Given the description of an element on the screen output the (x, y) to click on. 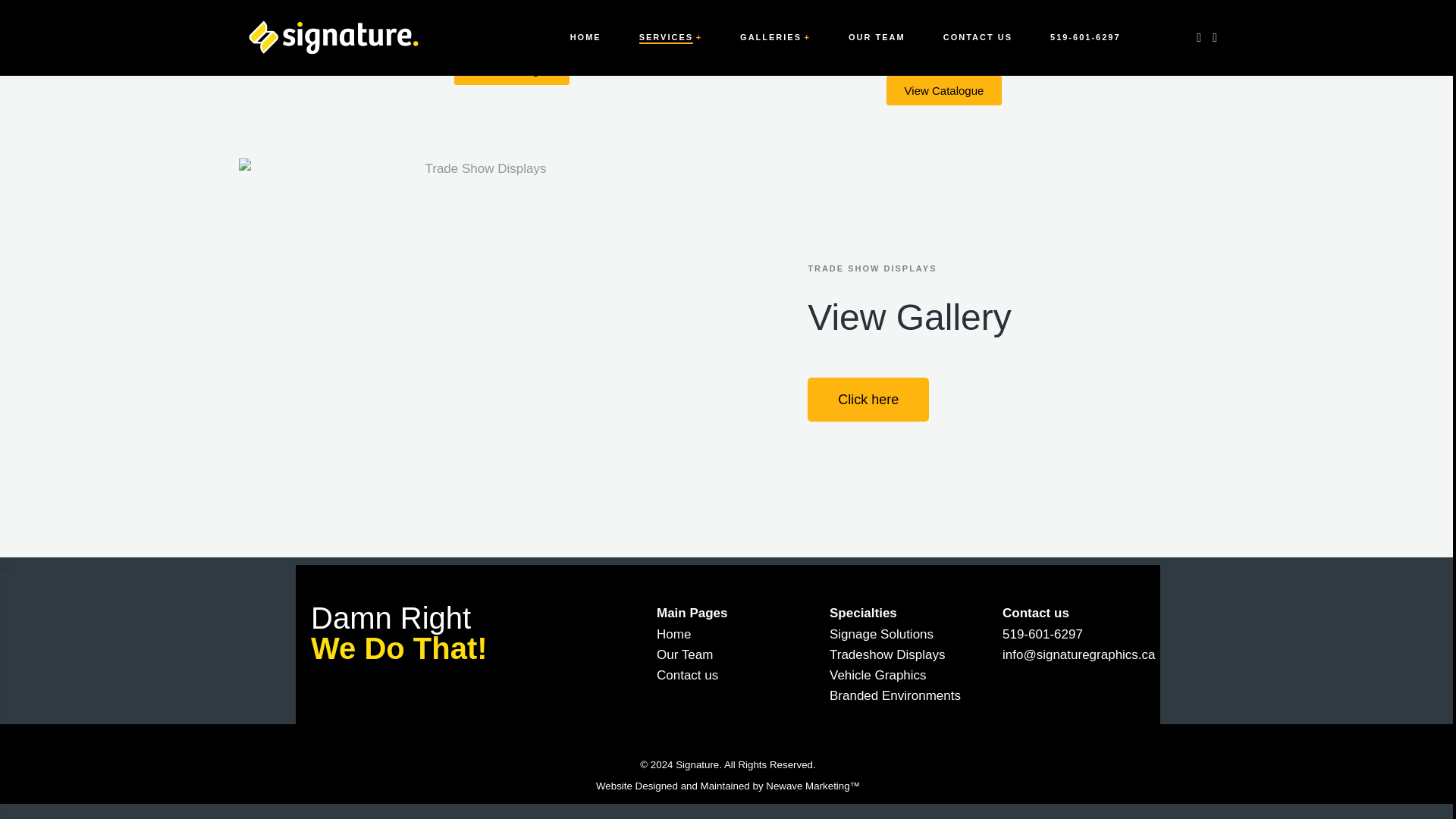
Click here (868, 399)
Tradeshow Displays (900, 654)
Branded Environments (900, 695)
Contact us (727, 675)
Home (727, 634)
Vehicle Graphics (900, 675)
Signage Solutions (900, 634)
View Catalogue (512, 70)
View Catalogue (944, 90)
